Given the description of an element on the screen output the (x, y) to click on. 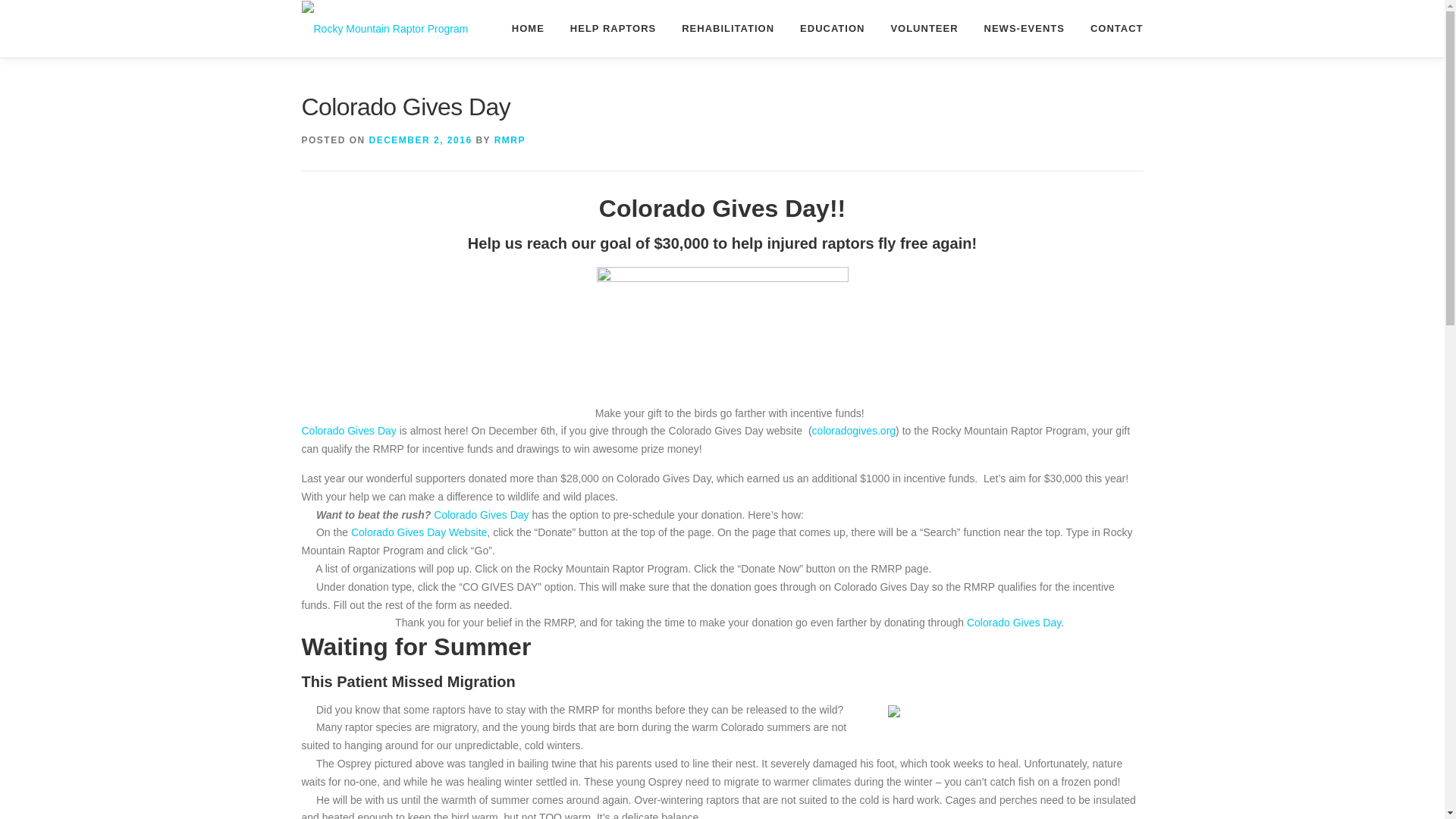
HOME (528, 28)
HELP RAPTORS (612, 28)
REHABILITATION (727, 28)
